Given the description of an element on the screen output the (x, y) to click on. 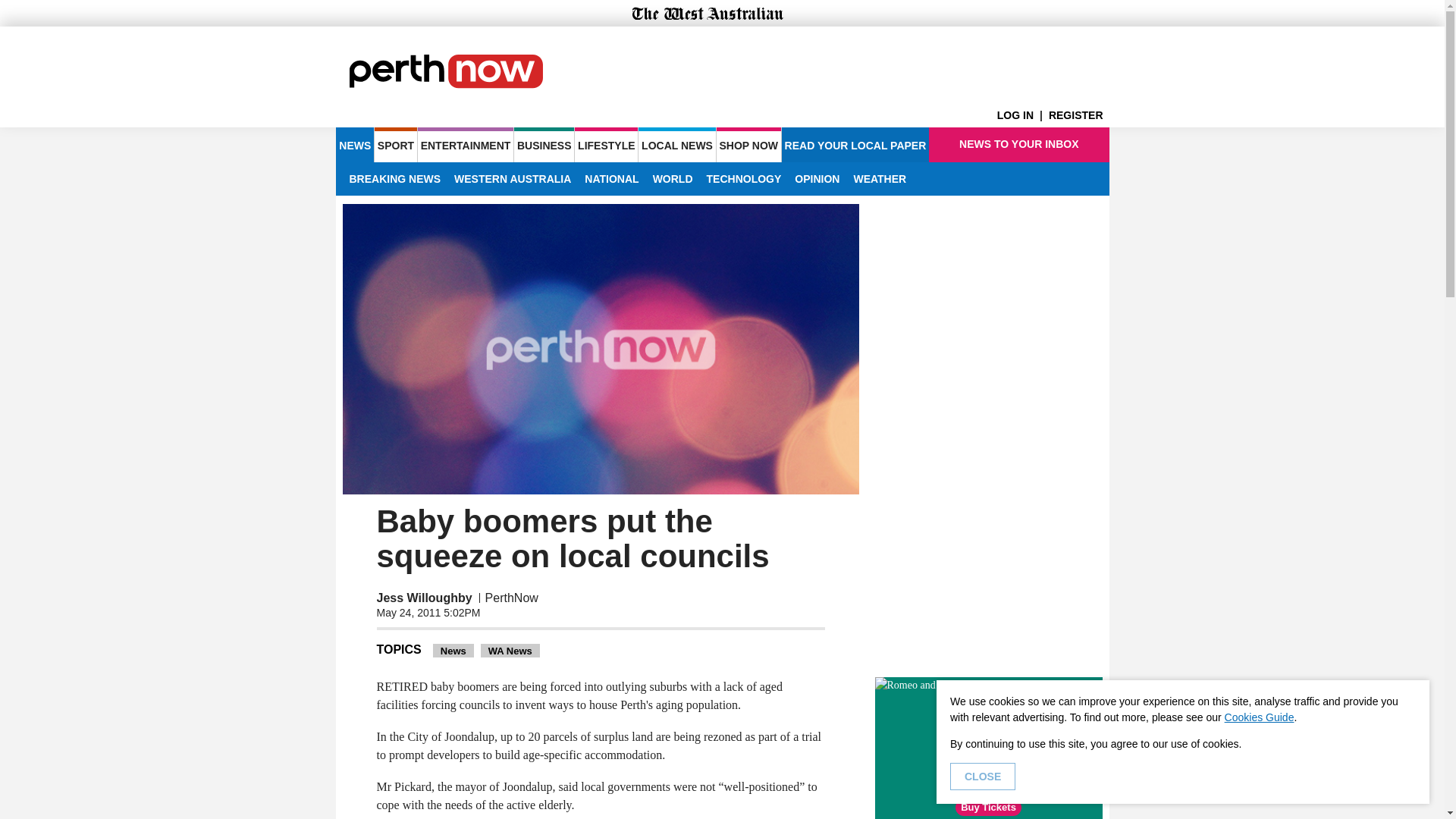
NEWS (354, 144)
SPORT (395, 144)
LOG IN (1022, 115)
REGISTER (1078, 115)
ENTERTAINMENT (465, 144)
